Given the description of an element on the screen output the (x, y) to click on. 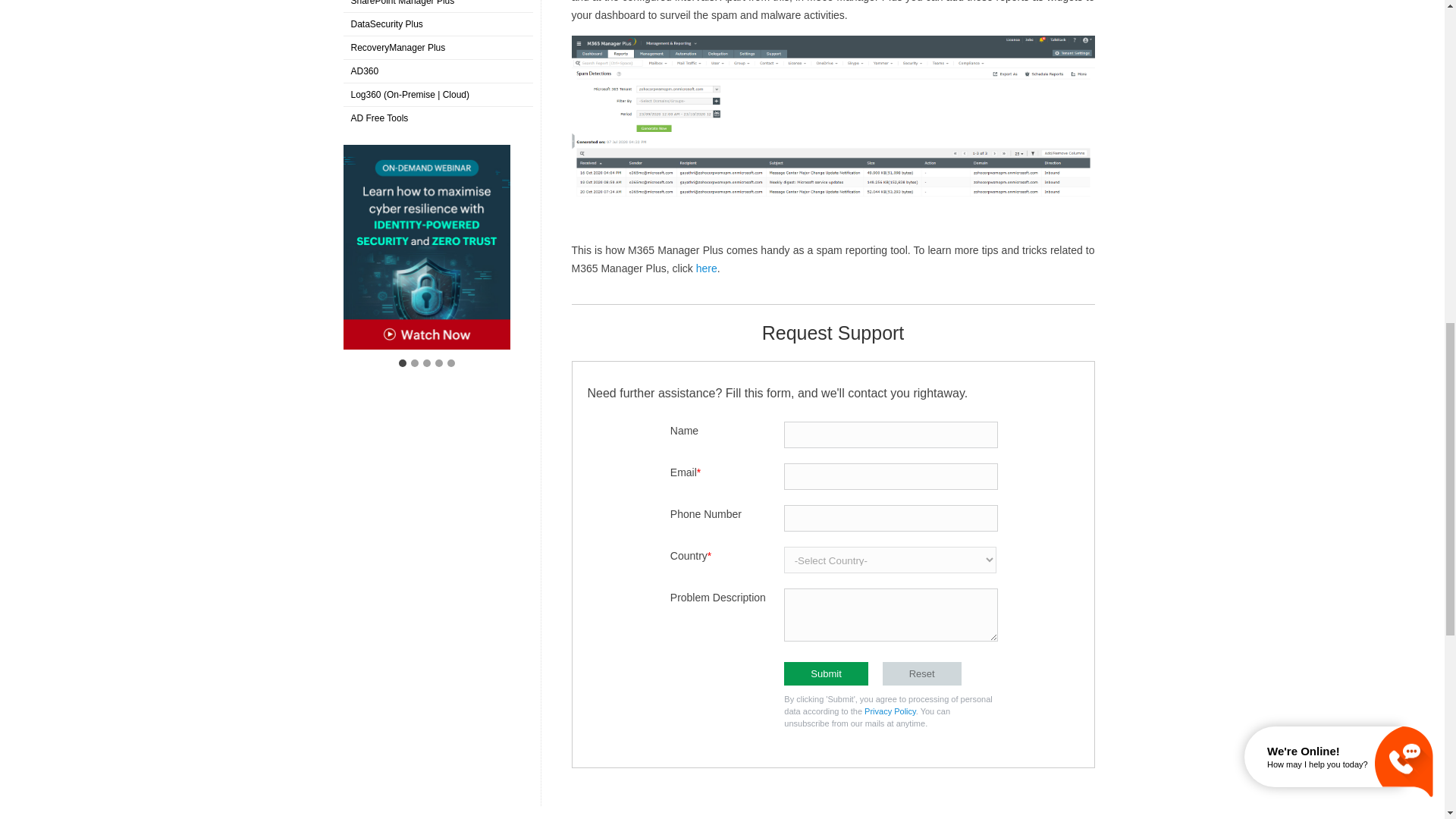
Submit (825, 673)
Reset (921, 673)
